Given the description of an element on the screen output the (x, y) to click on. 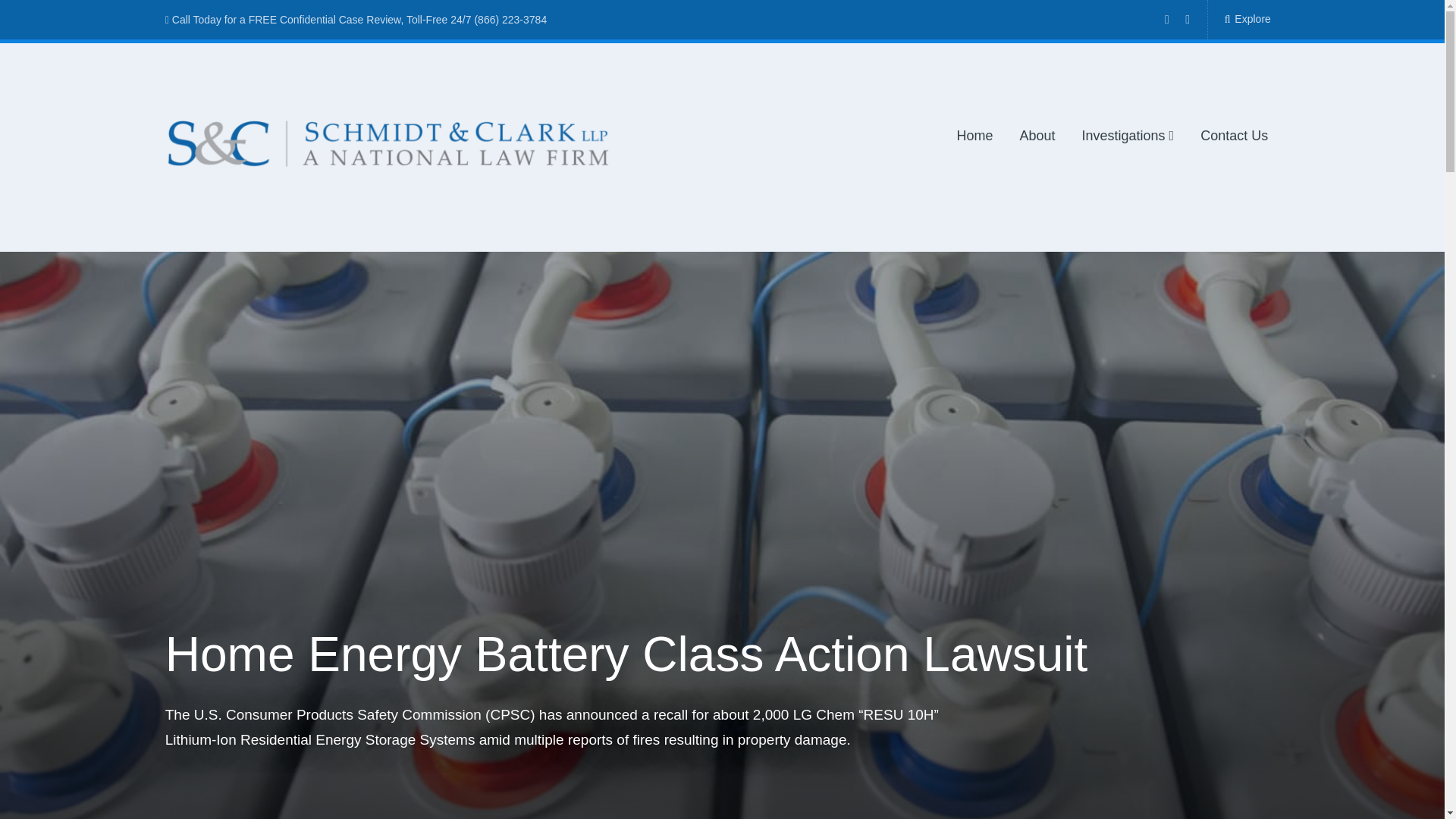
Class Action Lawsuit Help (287, 191)
Investigations (1127, 136)
Contact Us (1233, 136)
About (1036, 136)
Home (974, 136)
